Given the description of an element on the screen output the (x, y) to click on. 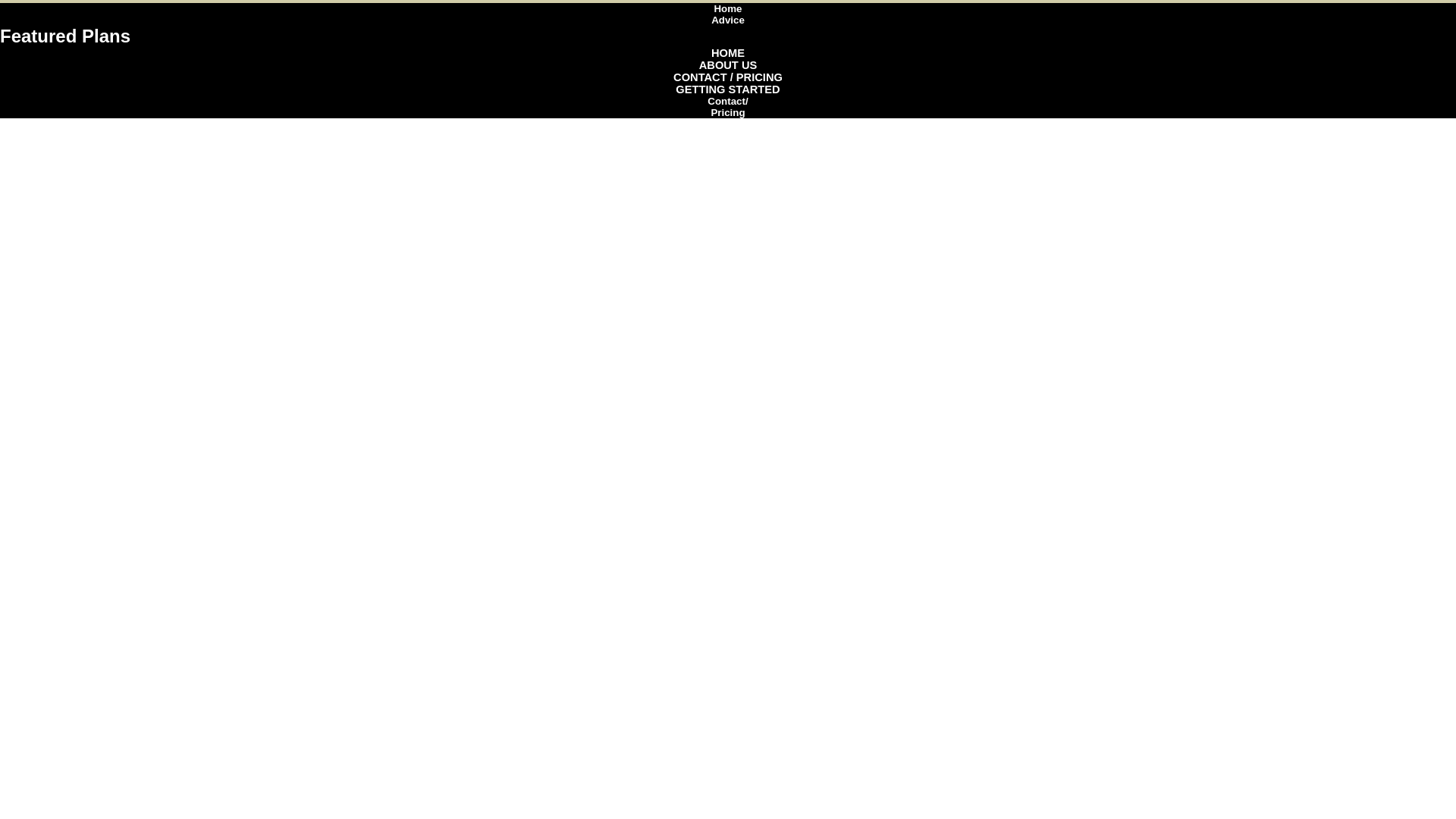
Home Element type: text (727, 8)
CONTACT / PRICING Element type: text (727, 77)
Advice Element type: text (727, 19)
HOME Element type: text (727, 53)
GETTING STARTED Element type: text (727, 89)
ABOUT US Element type: text (728, 65)
Contact/
Pricing Element type: text (727, 106)
